Given the description of an element on the screen output the (x, y) to click on. 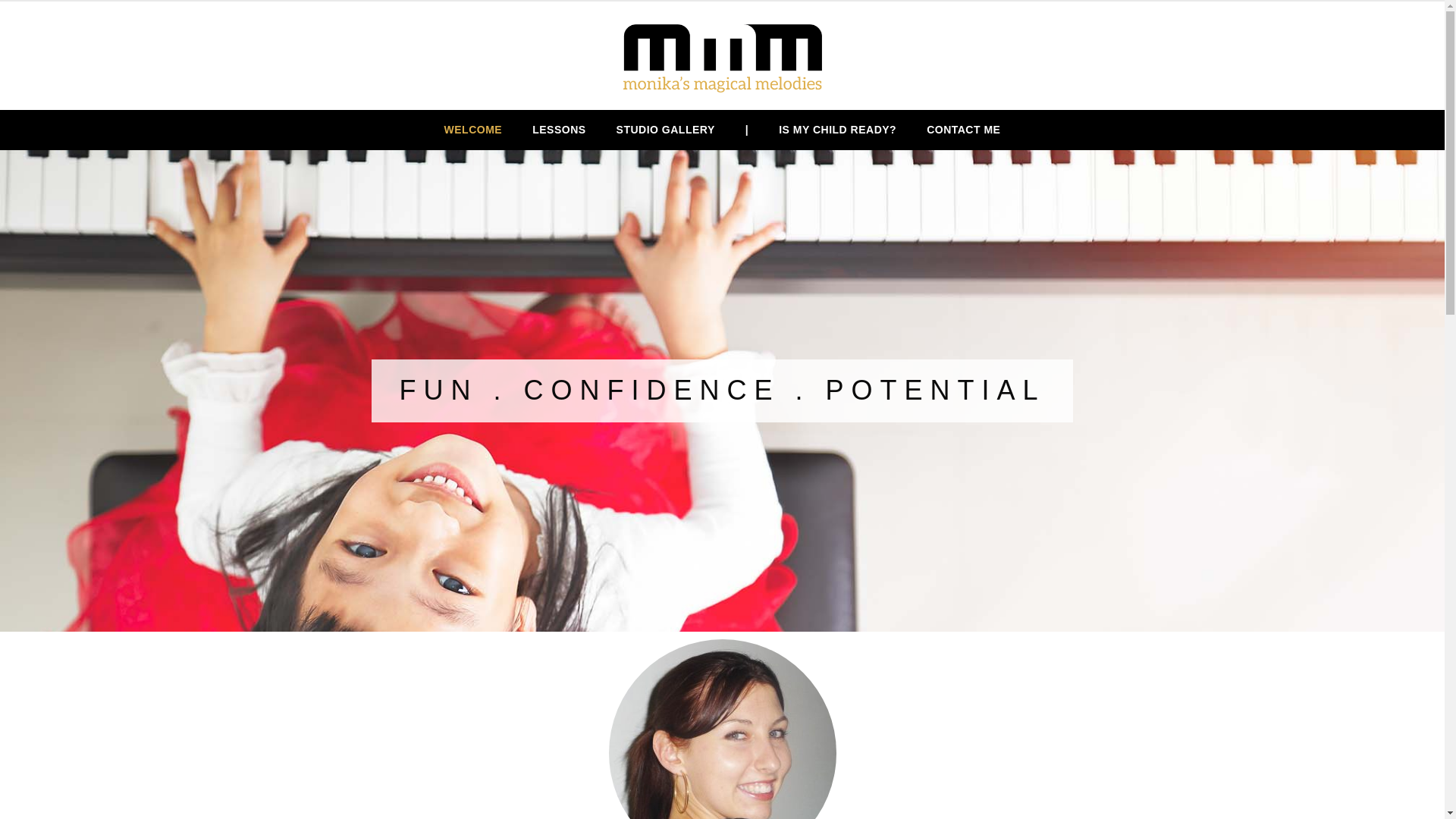
STUDIO GALLERY Element type: text (665, 129)
FUN . CONFIDENCE . POTENTIAL Element type: text (721, 390)
CONTACT ME Element type: text (963, 129)
| Element type: text (746, 129)
IS MY CHILD READY? Element type: text (837, 129)
WELCOME Element type: text (473, 129)
LESSONS Element type: text (558, 129)
